Given the description of an element on the screen output the (x, y) to click on. 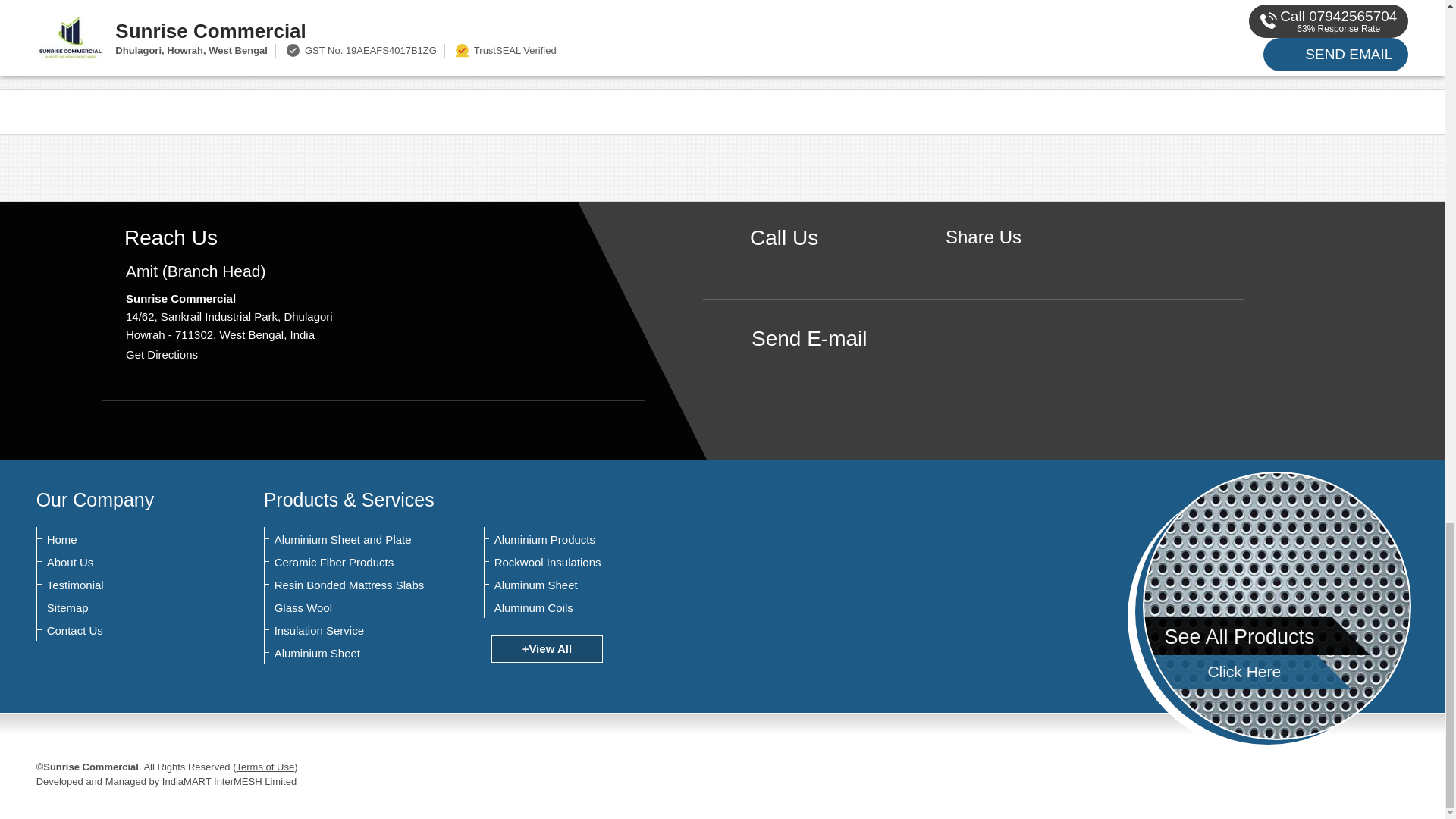
Get Directions (161, 354)
